Given the description of an element on the screen output the (x, y) to click on. 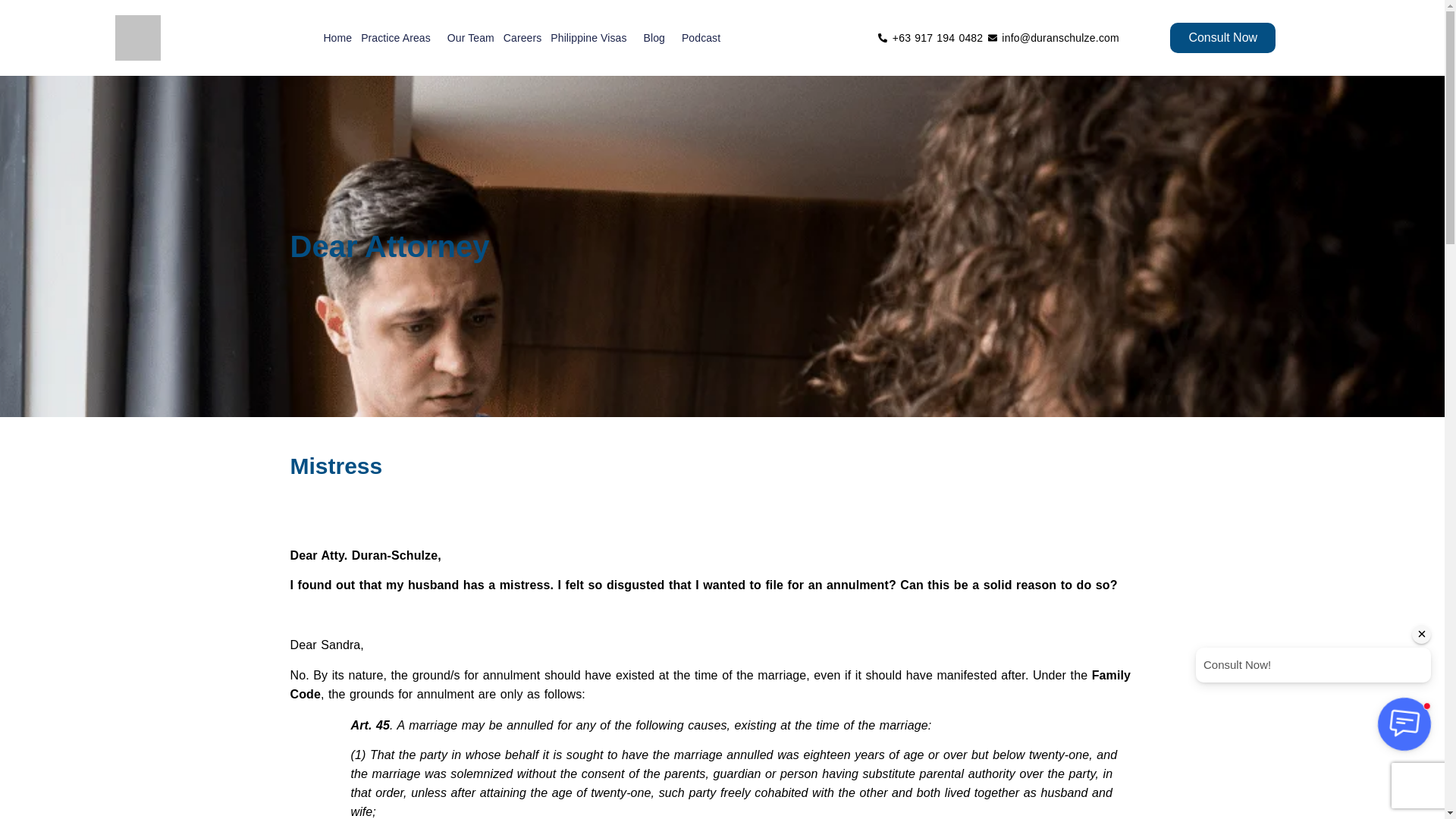
Consult Now (1222, 37)
wp-bit-assist (1313, 687)
Home (337, 37)
Blog (657, 37)
Careers (522, 37)
Practice Areas (399, 37)
Our Team (470, 37)
Podcast (700, 37)
Philippine Visas (591, 37)
